Given the description of an element on the screen output the (x, y) to click on. 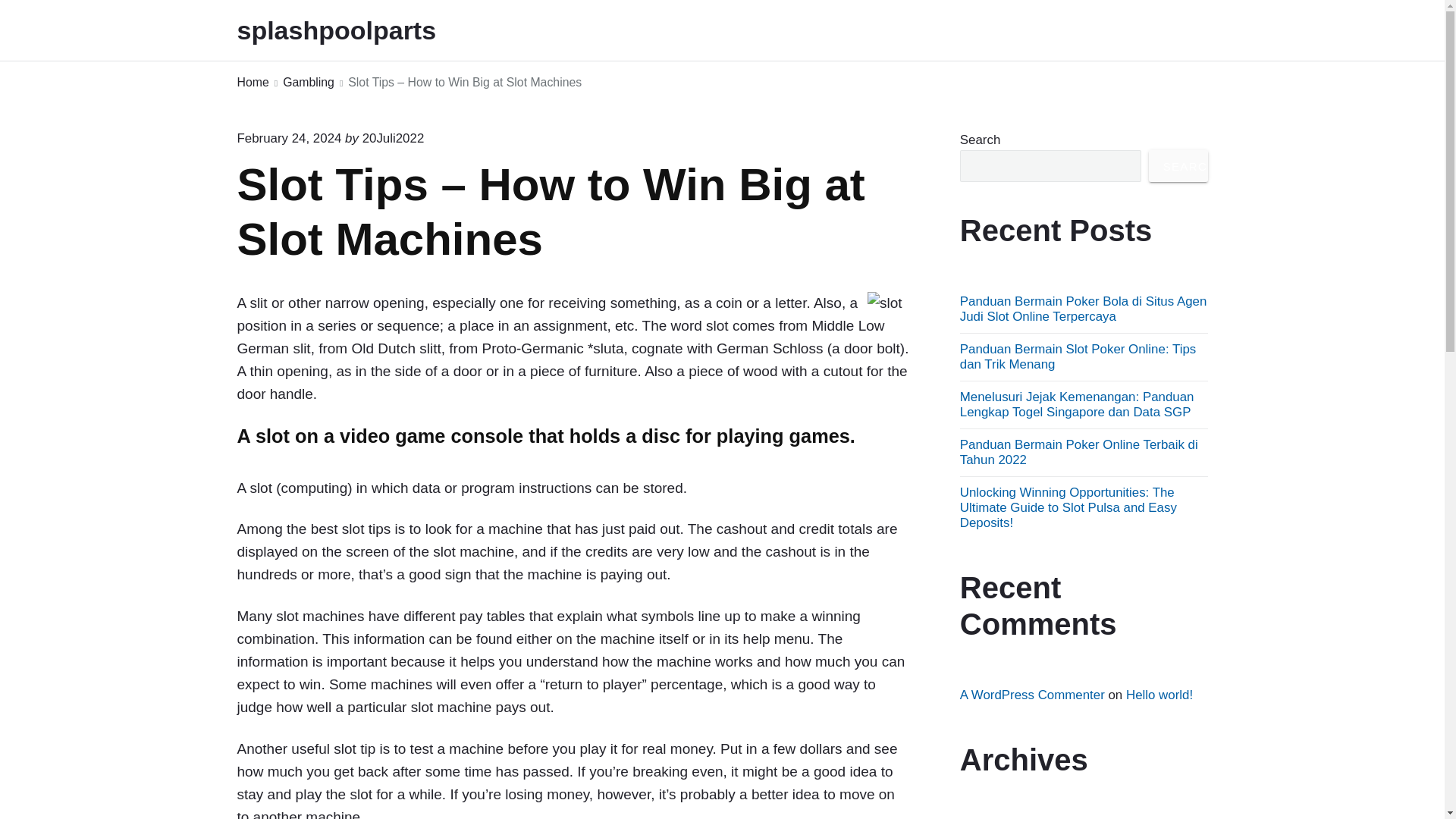
A WordPress Commenter (1032, 694)
Panduan Bermain Slot Poker Online: Tips dan Trik Menang (1077, 356)
Gambling (308, 82)
Posts by 20Juli2022 (393, 138)
Home (251, 82)
splashpoolparts (356, 30)
Hello world! (1158, 694)
20Juli2022 (393, 138)
